Given the description of an element on the screen output the (x, y) to click on. 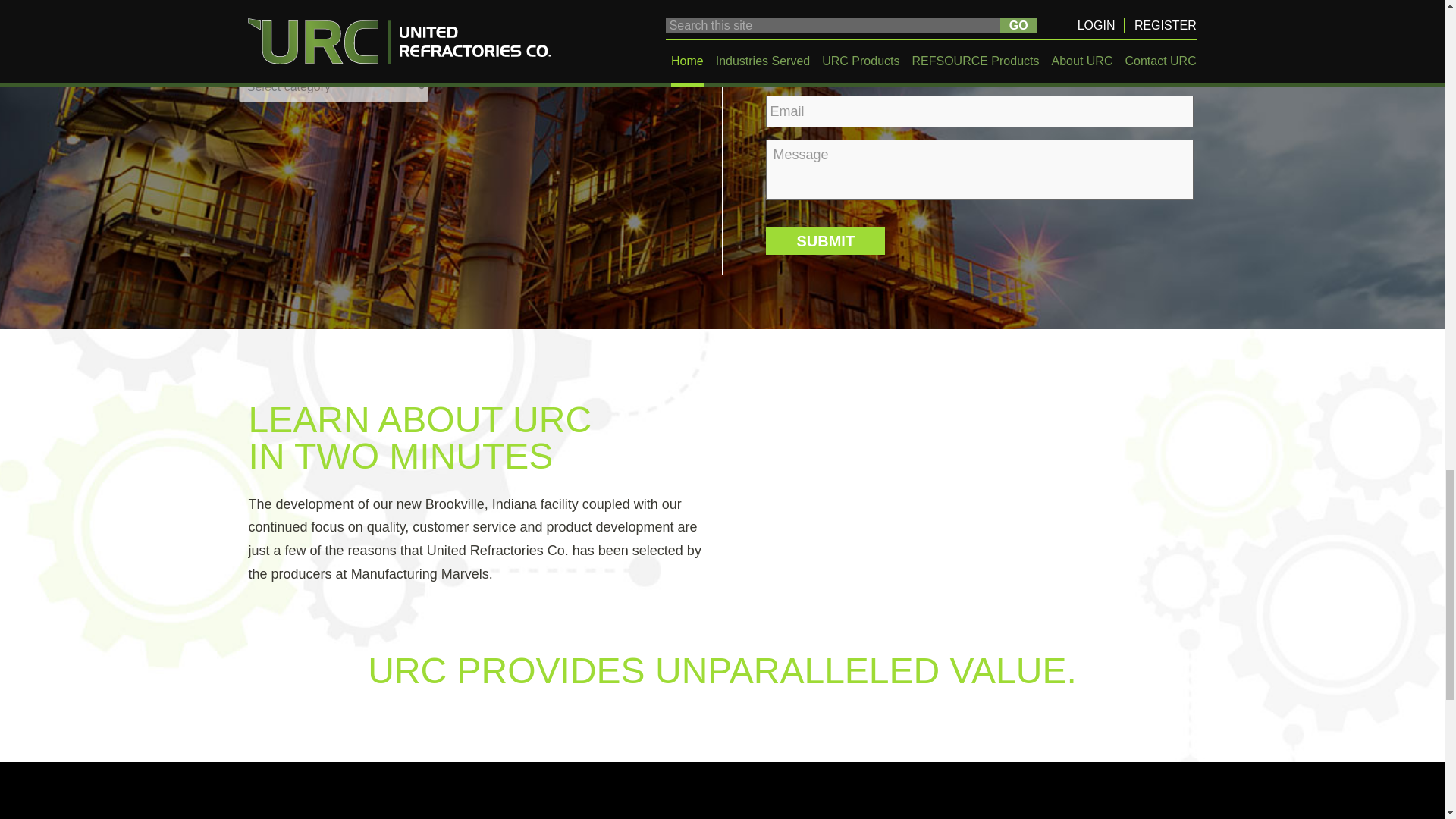
vimeo-player (978, 497)
Submit (825, 240)
